Given the description of an element on the screen output the (x, y) to click on. 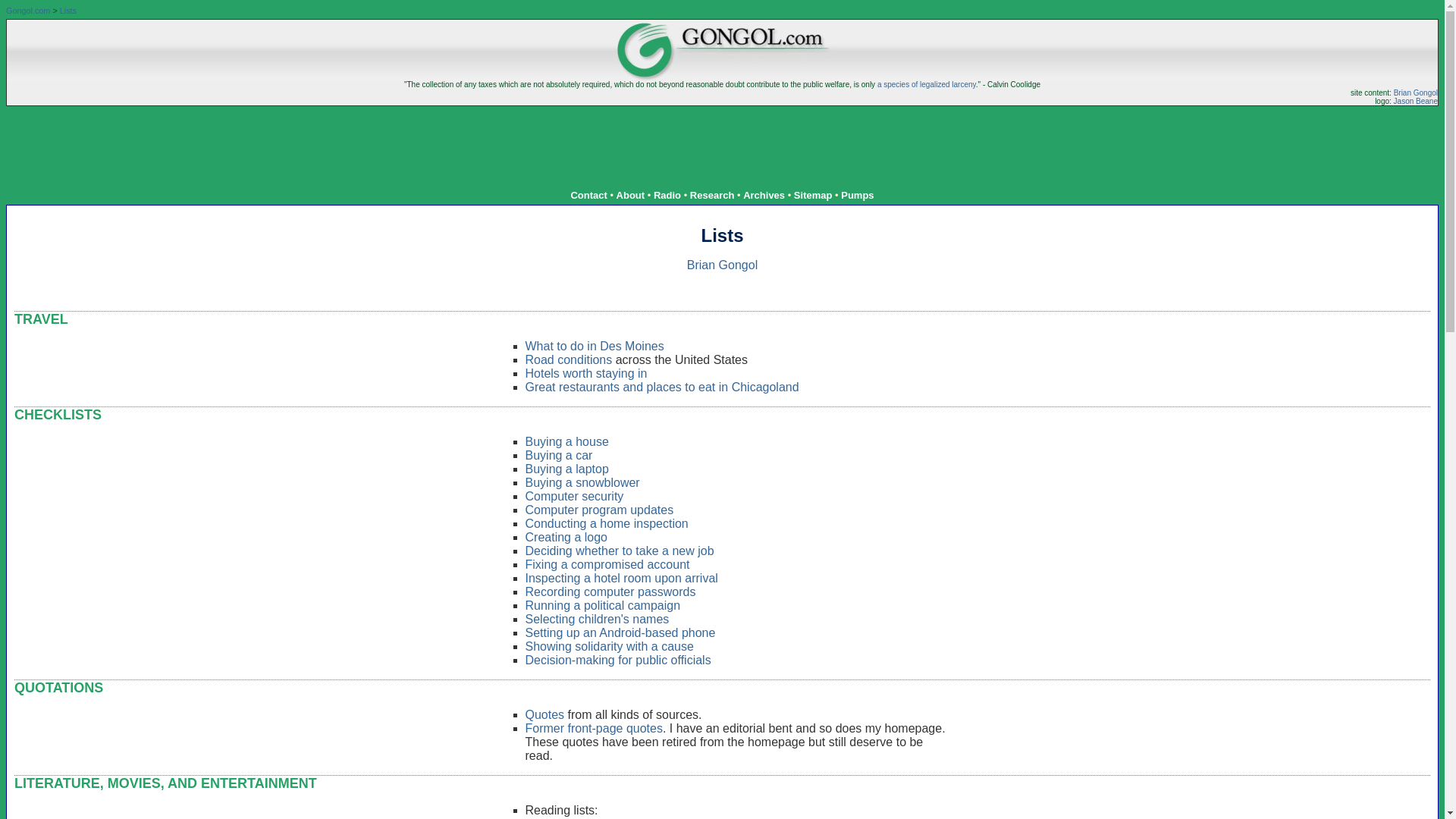
Selecting children's names (596, 618)
Road conditions (567, 359)
Gongol.com (27, 10)
Quotes (544, 714)
Conducting a home inspection (605, 522)
Lists (68, 10)
Recording computer passwords (609, 591)
Advertisement (721, 139)
Fixing a compromised account (606, 563)
Buying a car (558, 454)
Hotels worth staying in (585, 373)
What to do in Des Moines (593, 345)
Setting up an Android-based phone (619, 632)
Deciding whether to take a new job (618, 550)
Great restaurants and places to eat in Chicagoland (660, 386)
